Given the description of an element on the screen output the (x, y) to click on. 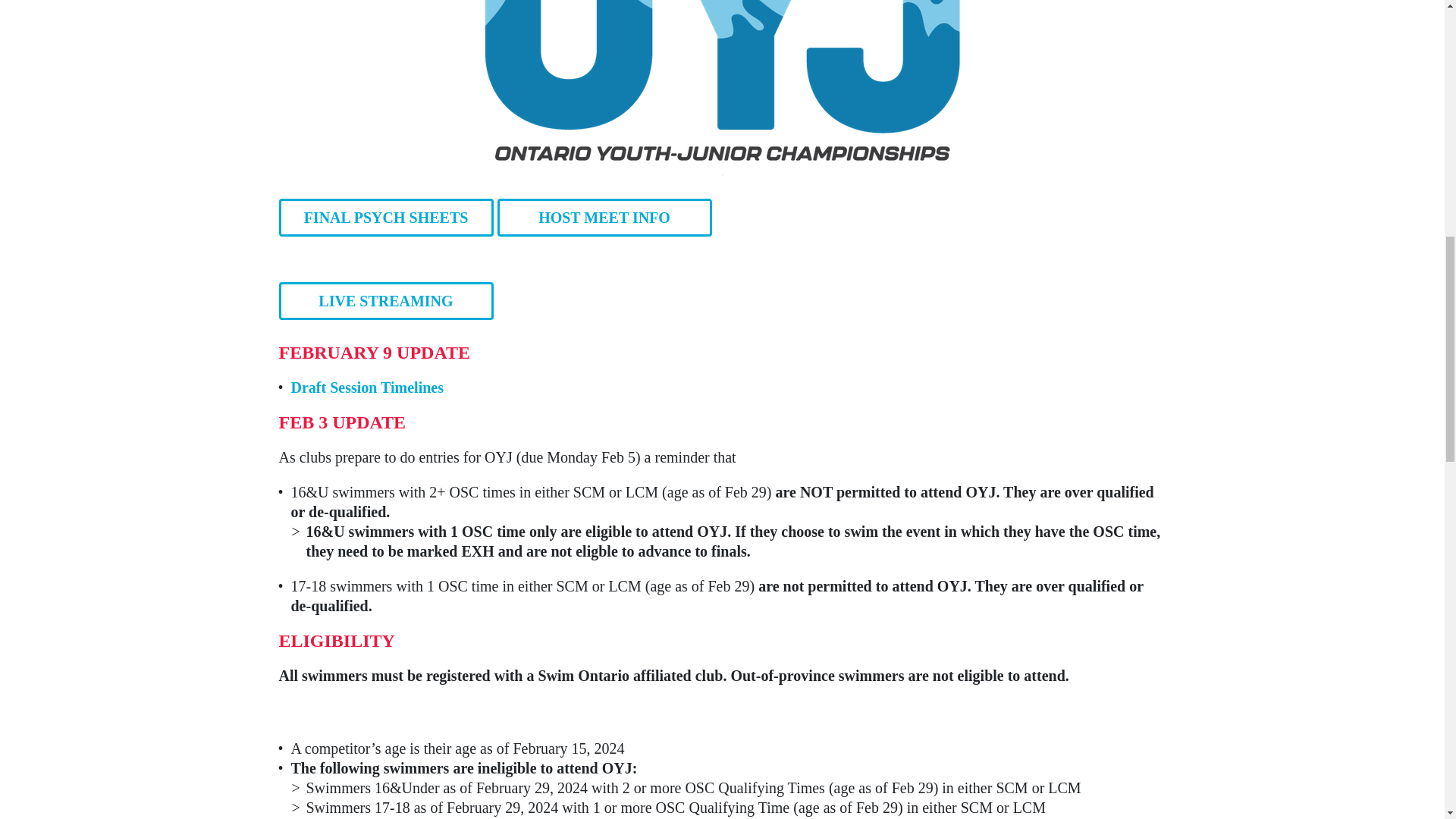
LIVE STREAMING (386, 293)
FINAL PSYCH SHEETS (386, 217)
HOST MEET INFO (604, 210)
LIVE STREAMING (386, 300)
HOST MEET INFO (604, 217)
FINAL PSYCH SHEETS (386, 210)
